Given the description of an element on the screen output the (x, y) to click on. 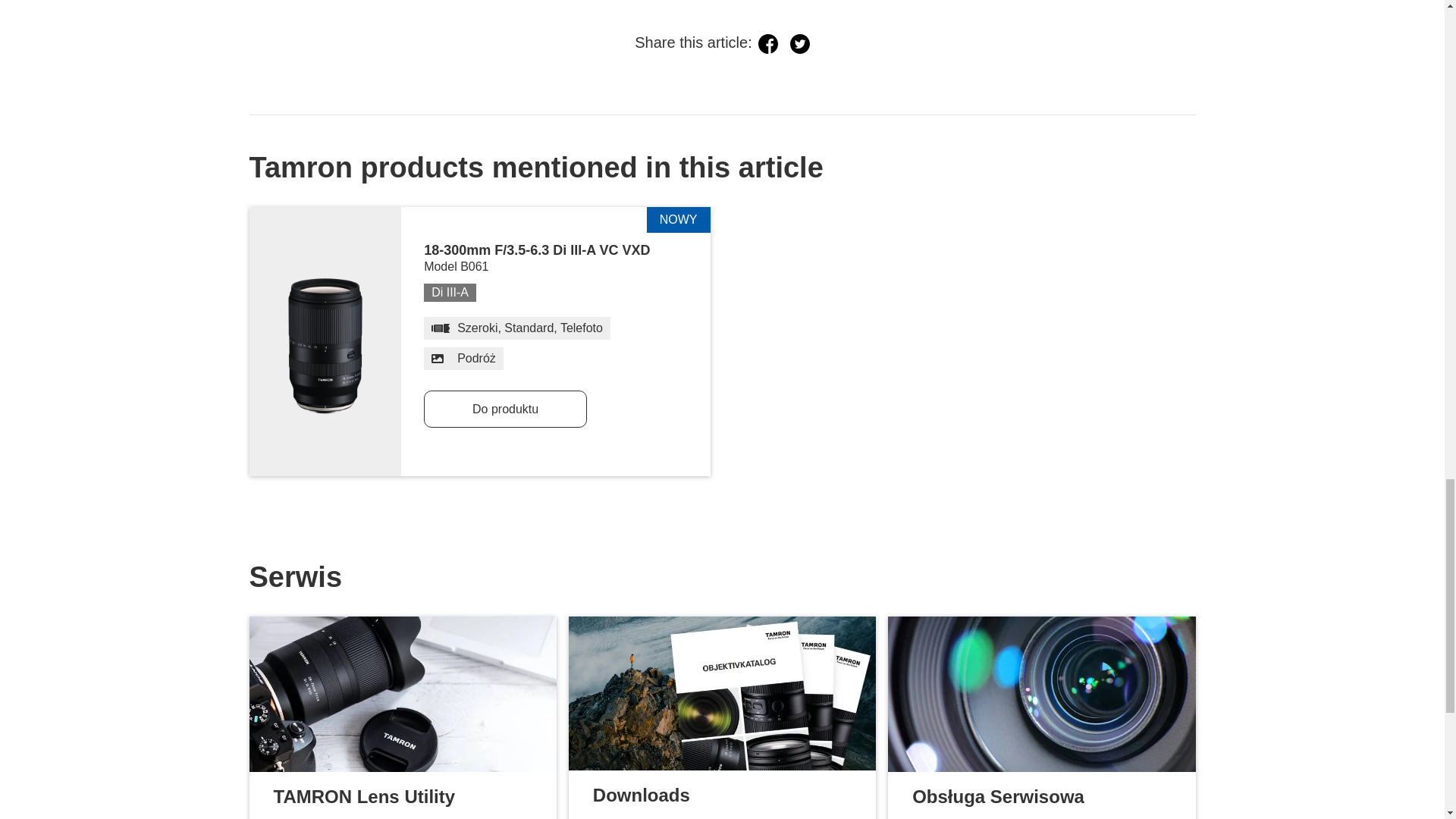
Downloads (722, 693)
TAMRON Lens Utility (402, 694)
